Given the description of an element on the screen output the (x, y) to click on. 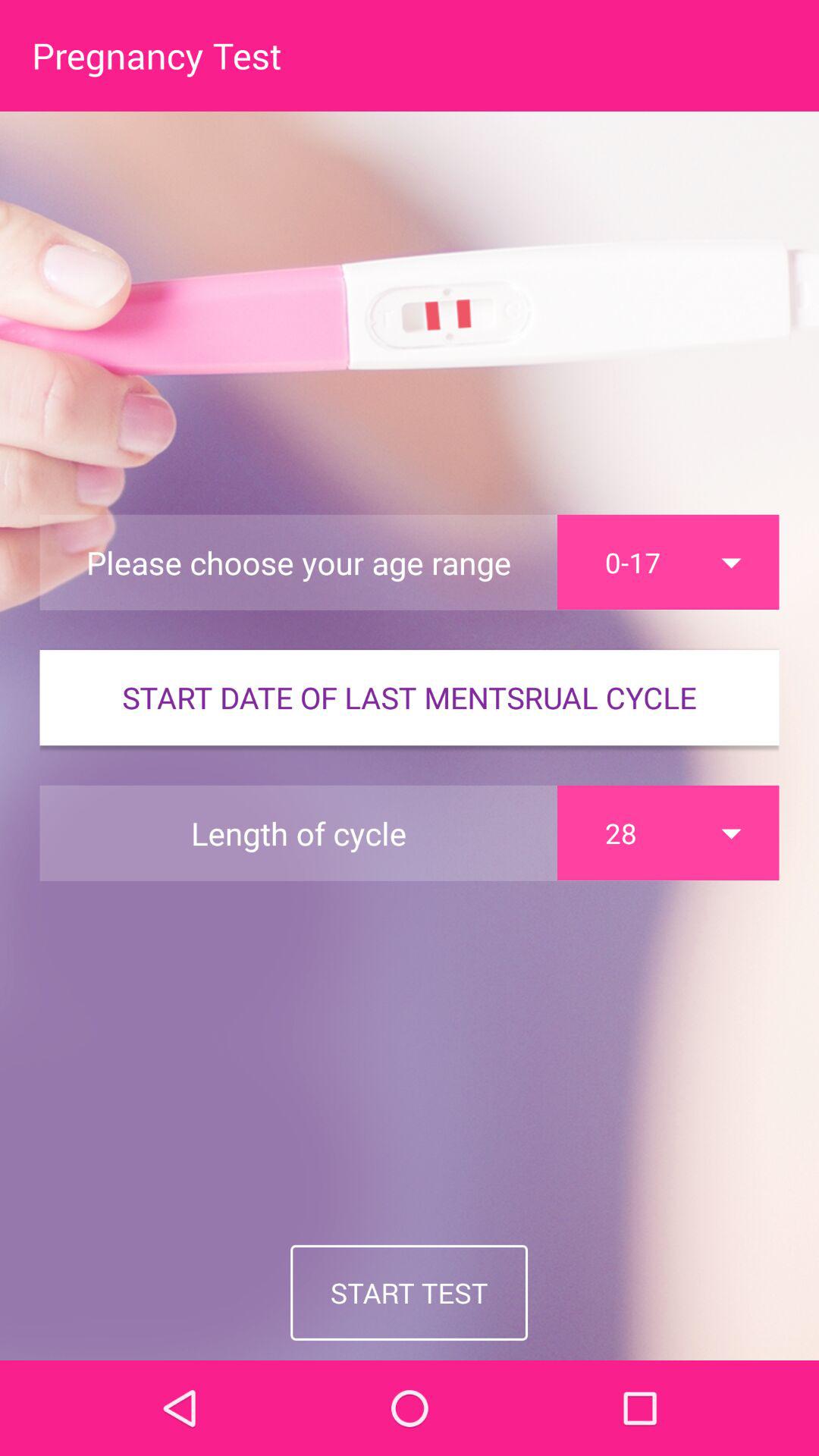
launch the icon to the right of the length of cycle (668, 832)
